Given the description of an element on the screen output the (x, y) to click on. 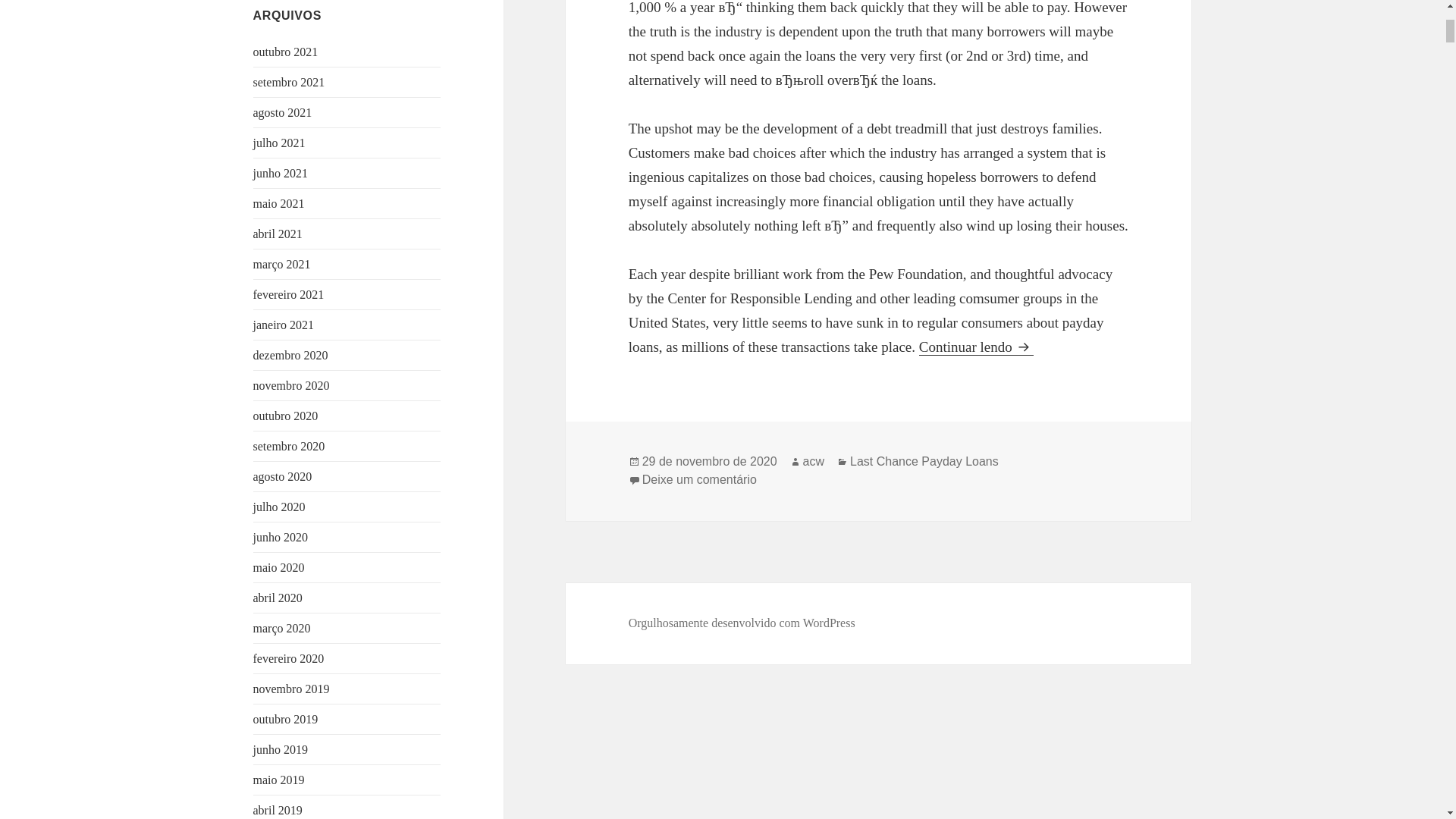
janeiro 2021 (283, 324)
novembro 2020 (291, 385)
maio 2021 (278, 203)
maio 2019 (278, 779)
abril 2021 (277, 233)
abril 2019 (277, 809)
junho 2020 (280, 536)
fevereiro 2021 (288, 294)
junho 2019 (280, 748)
novembro 2019 (291, 688)
